Given the description of an element on the screen output the (x, y) to click on. 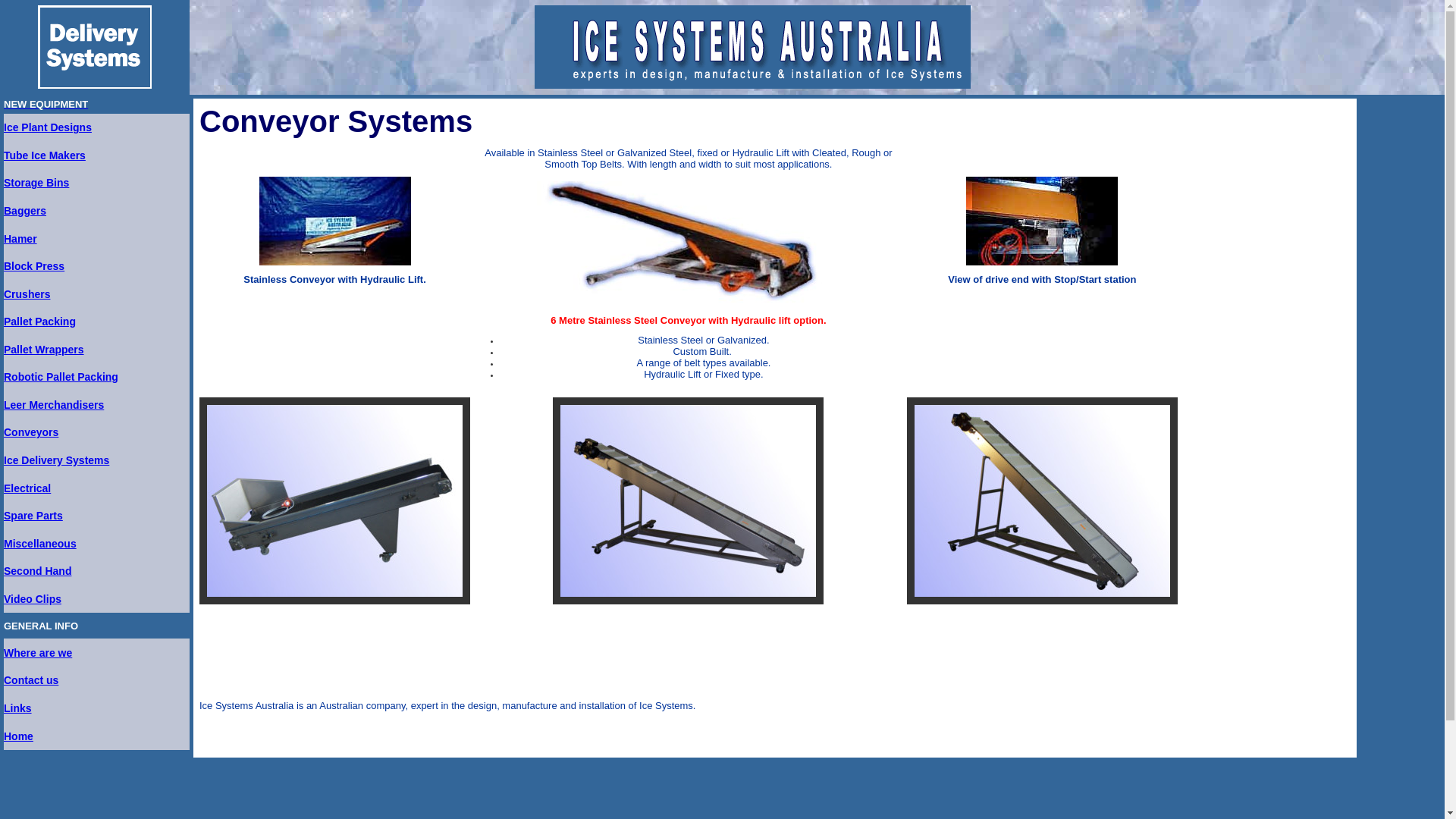
Second Hand Element type: text (37, 570)
Ice Plant Designs Element type: text (47, 127)
Leer Merchandisers Element type: text (53, 404)
Baggers Element type: text (24, 210)
Links Element type: text (17, 708)
Electrical Element type: text (26, 488)
Storage Bins Element type: text (36, 182)
Pallet Wrappers Element type: text (43, 349)
Spare Parts Element type: text (32, 515)
Robotic Pallet Packing Element type: text (60, 376)
Block Press Element type: text (33, 266)
Tube Ice Makers Element type: text (44, 155)
Video Clips Element type: text (32, 599)
NEW EQUIPMENT Element type: text (45, 104)
Miscellaneous Element type: text (39, 543)
Hamer Element type: text (20, 238)
Contact us Element type: text (30, 680)
Home Element type: text (18, 736)
Pallet Packing Element type: text (39, 321)
Where are we Element type: text (37, 652)
Crushers Element type: text (26, 294)
Ice Delivery Systems Element type: text (56, 460)
Conveyors Element type: text (30, 432)
